Given the description of an element on the screen output the (x, y) to click on. 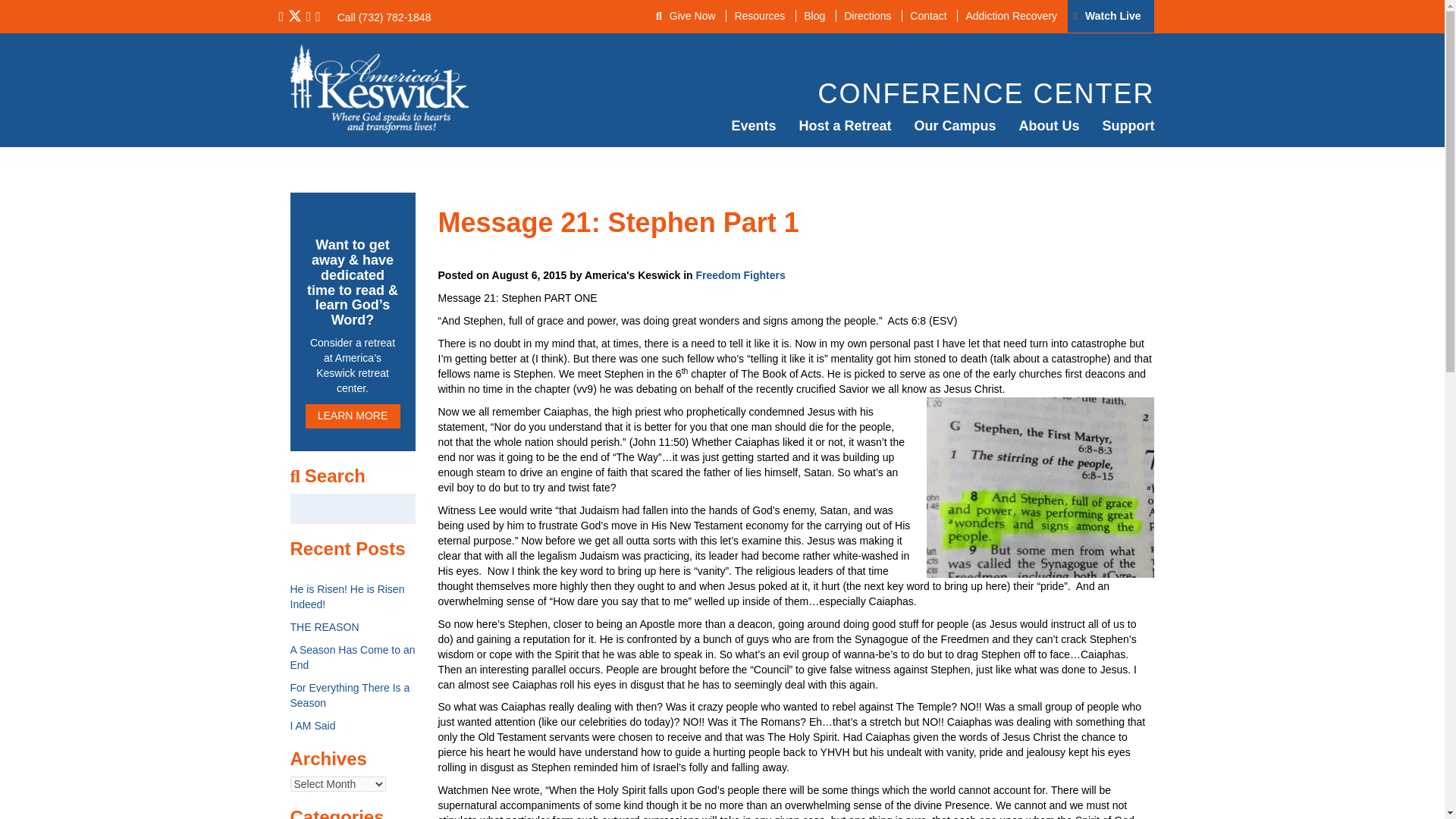
Christian Events in NJ (753, 125)
Directions (866, 15)
Resources (758, 15)
Blog (813, 15)
Addiction Recovery (1010, 15)
Host a Retreat (844, 125)
Give Now (692, 15)
Watch Live (1112, 15)
Christian Retreat Center (844, 125)
Events (753, 125)
